Given the description of an element on the screen output the (x, y) to click on. 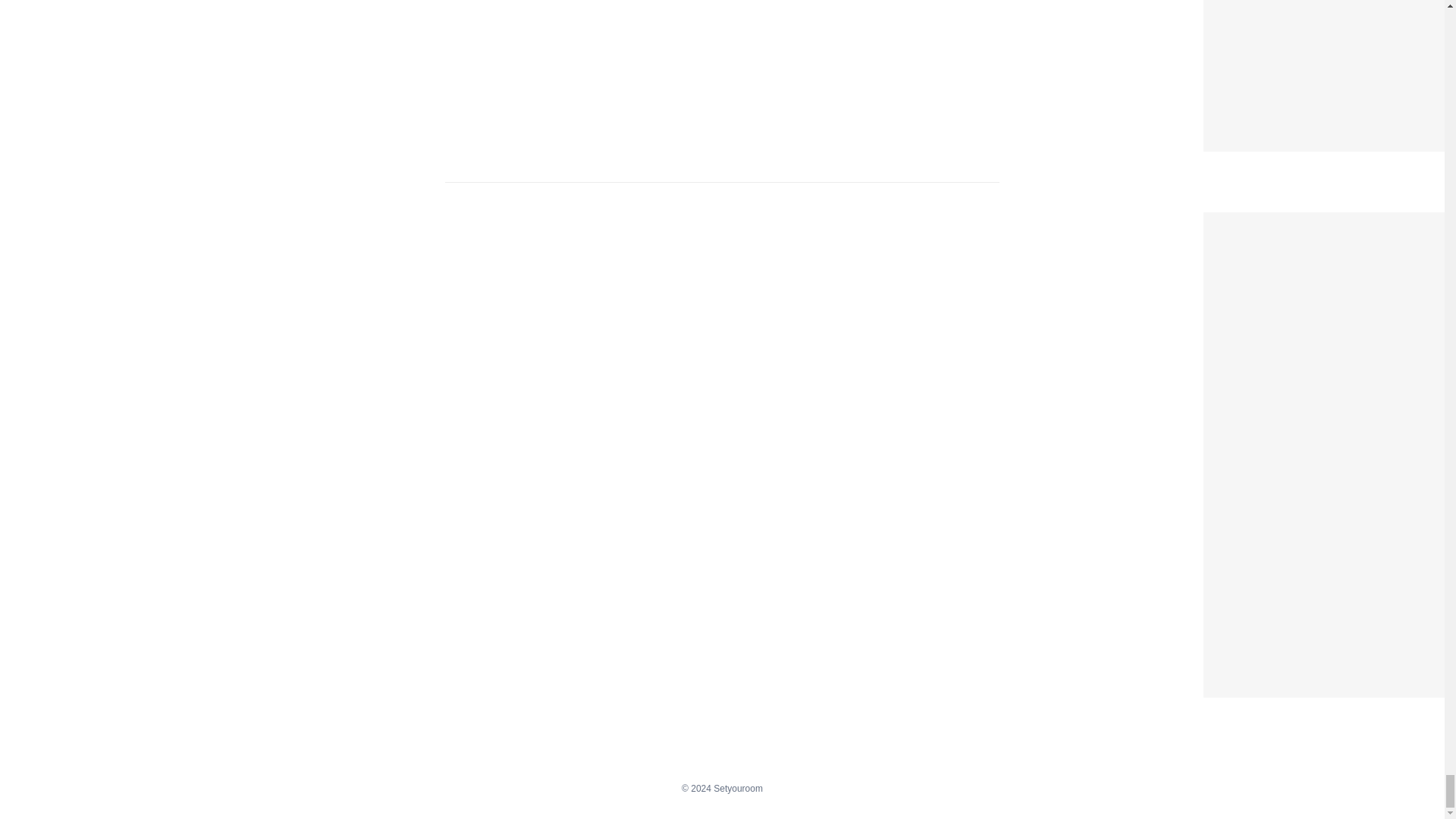
Can A Pond Liner Be Repaired (1302, 222)
